Given the description of an element on the screen output the (x, y) to click on. 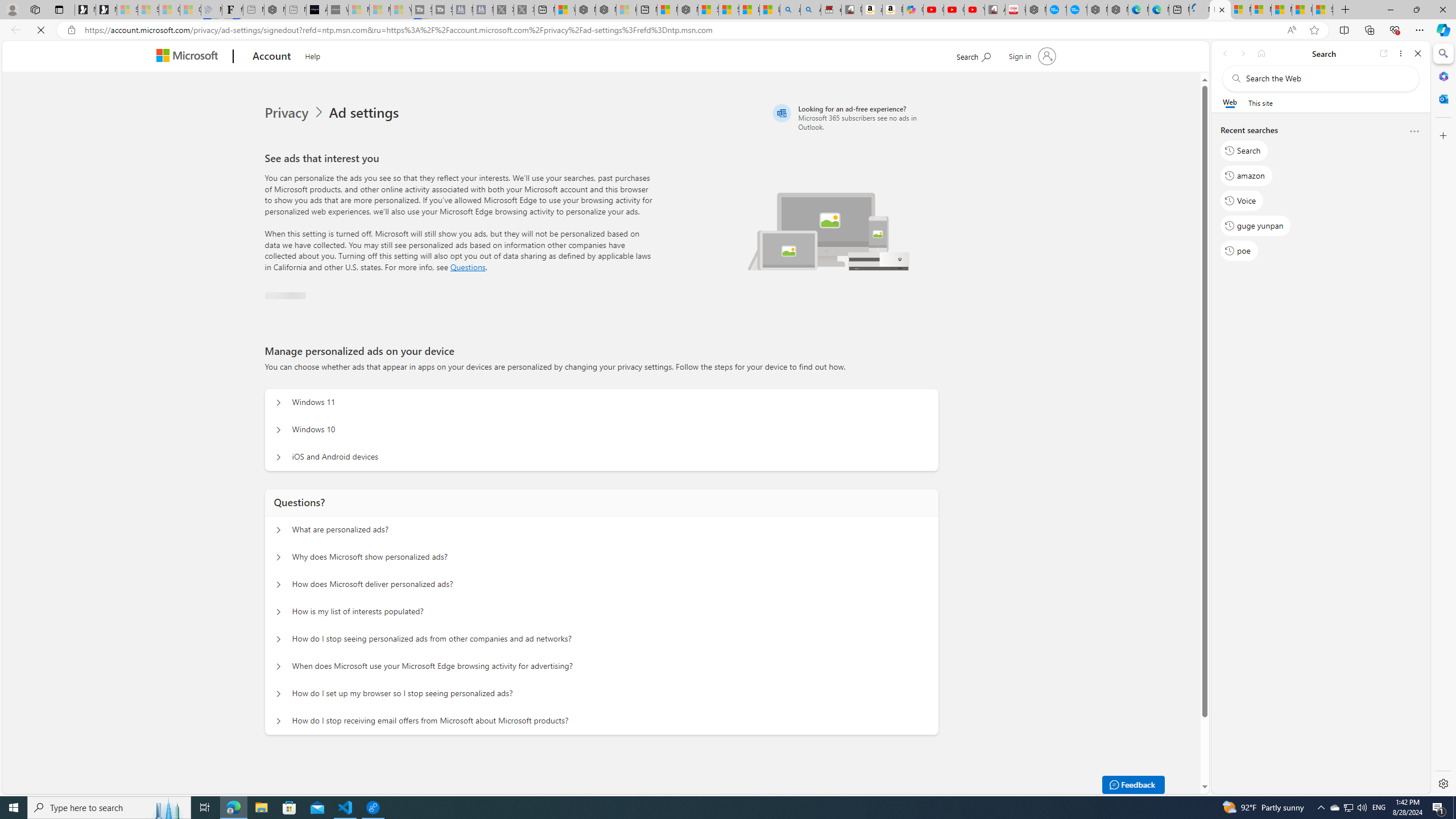
Microsoft account | Privacy (1261, 9)
More options (1414, 132)
Gloom - YouTube (954, 9)
Nordace - #1 Japanese Best-Seller - Siena Smart Backpack (274, 9)
Nordace - Nordace has arrived Hong Kong (1117, 9)
amazon - Search (789, 9)
